Given the description of an element on the screen output the (x, y) to click on. 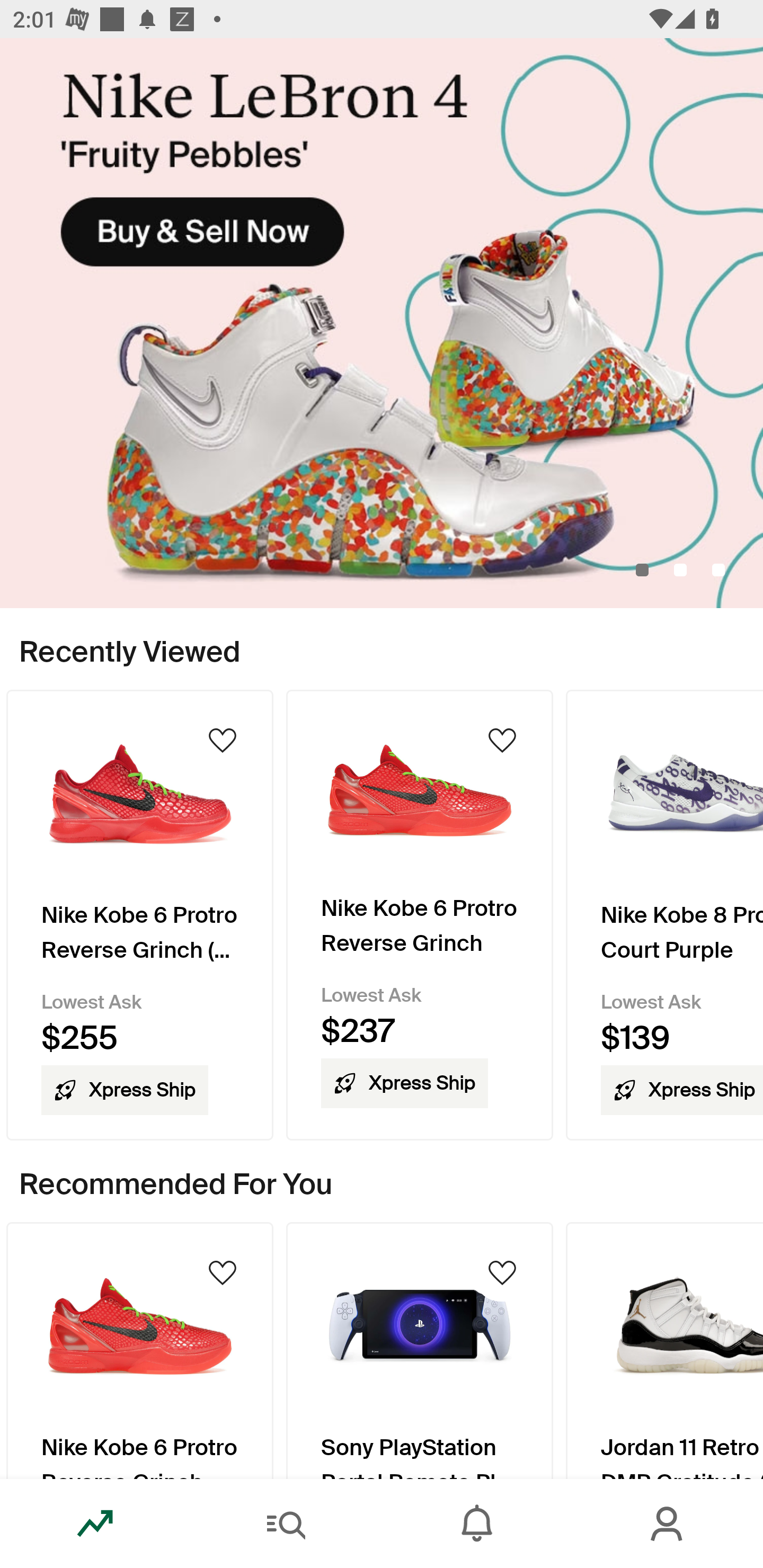
Product Image Nike Kobe 6 Protro Reverse Grinch (139, 1349)
Search (285, 1523)
Inbox (476, 1523)
Account (667, 1523)
